Given the description of an element on the screen output the (x, y) to click on. 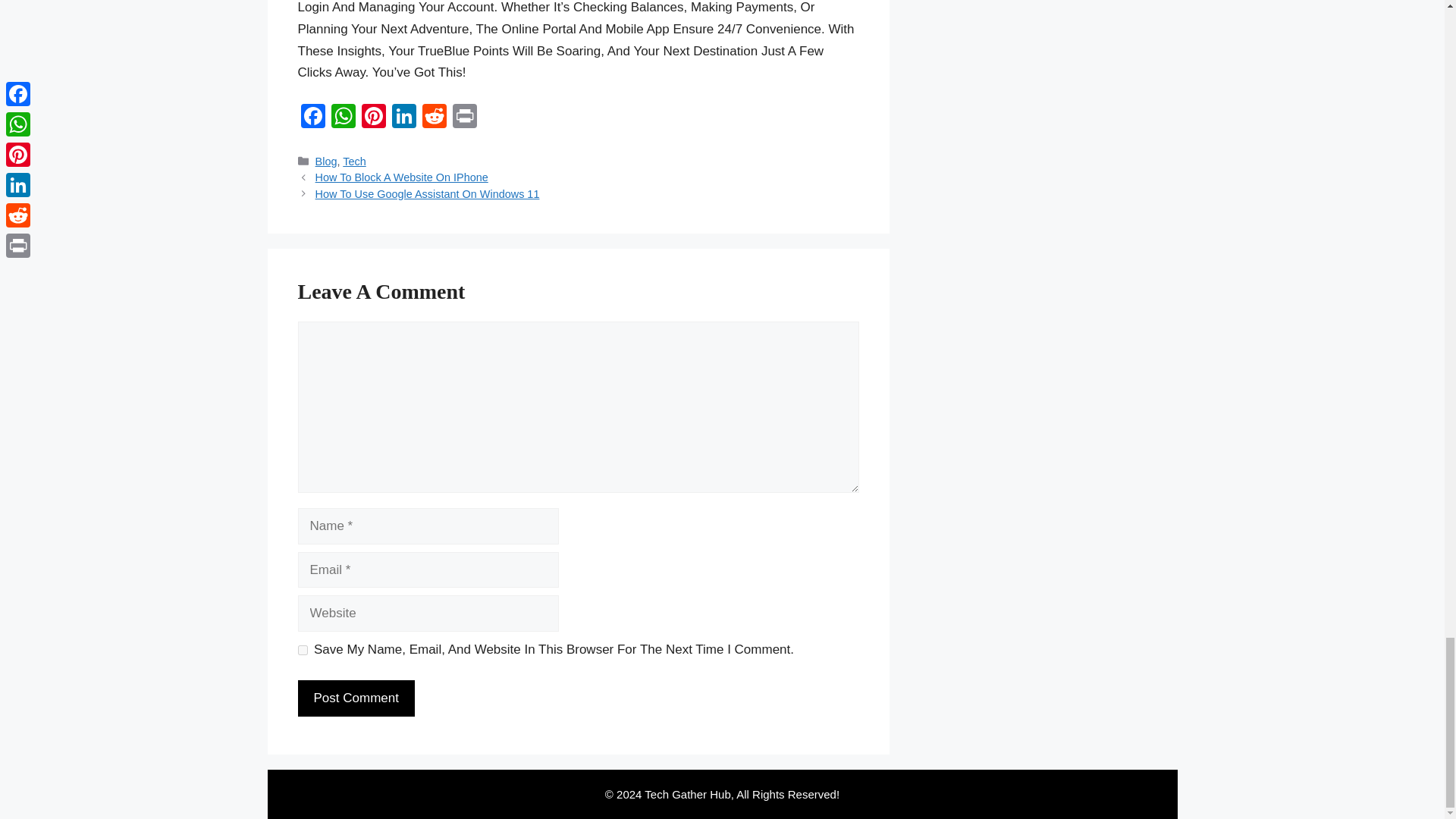
LinkedIn (403, 117)
Facebook (312, 117)
WhatsApp (342, 117)
Print (463, 117)
How To Use Google Assistant On Windows 11 (427, 193)
Facebook (312, 117)
LinkedIn (403, 117)
Blog (326, 161)
Post Comment (355, 698)
yes (302, 650)
Pinterest (373, 117)
Pinterest (373, 117)
Reddit (433, 117)
Print (463, 117)
How To Block A Website On IPhone (401, 177)
